Given the description of an element on the screen output the (x, y) to click on. 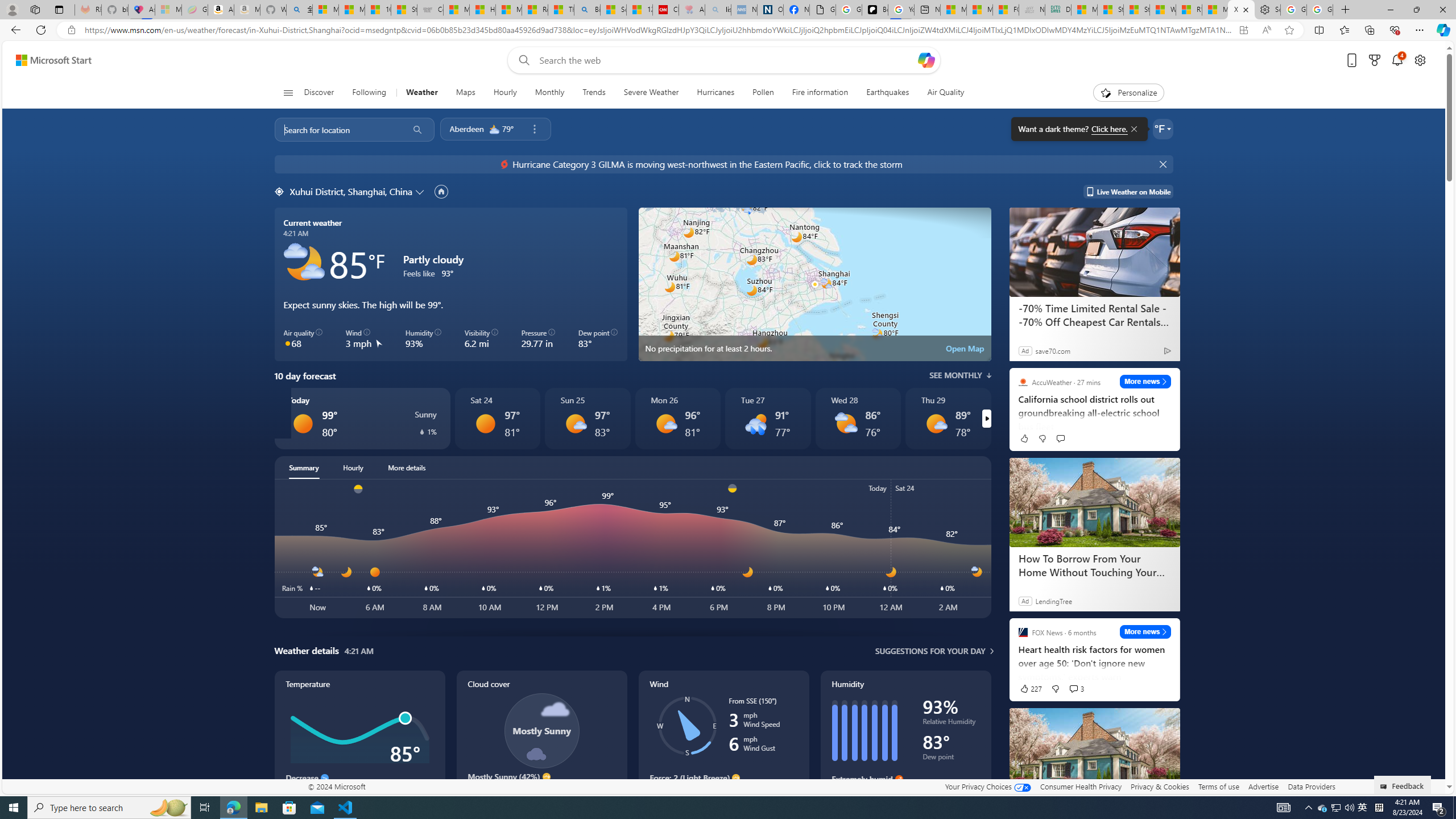
Switch right (986, 418)
See Monthly (959, 375)
Monthly (549, 92)
Wind (723, 741)
Mostly sunny (935, 422)
Details (37, 302)
Fire information (820, 92)
Wind 3 mph (363, 338)
Earthquakes (888, 92)
Terms of use (1218, 786)
